Given the description of an element on the screen output the (x, y) to click on. 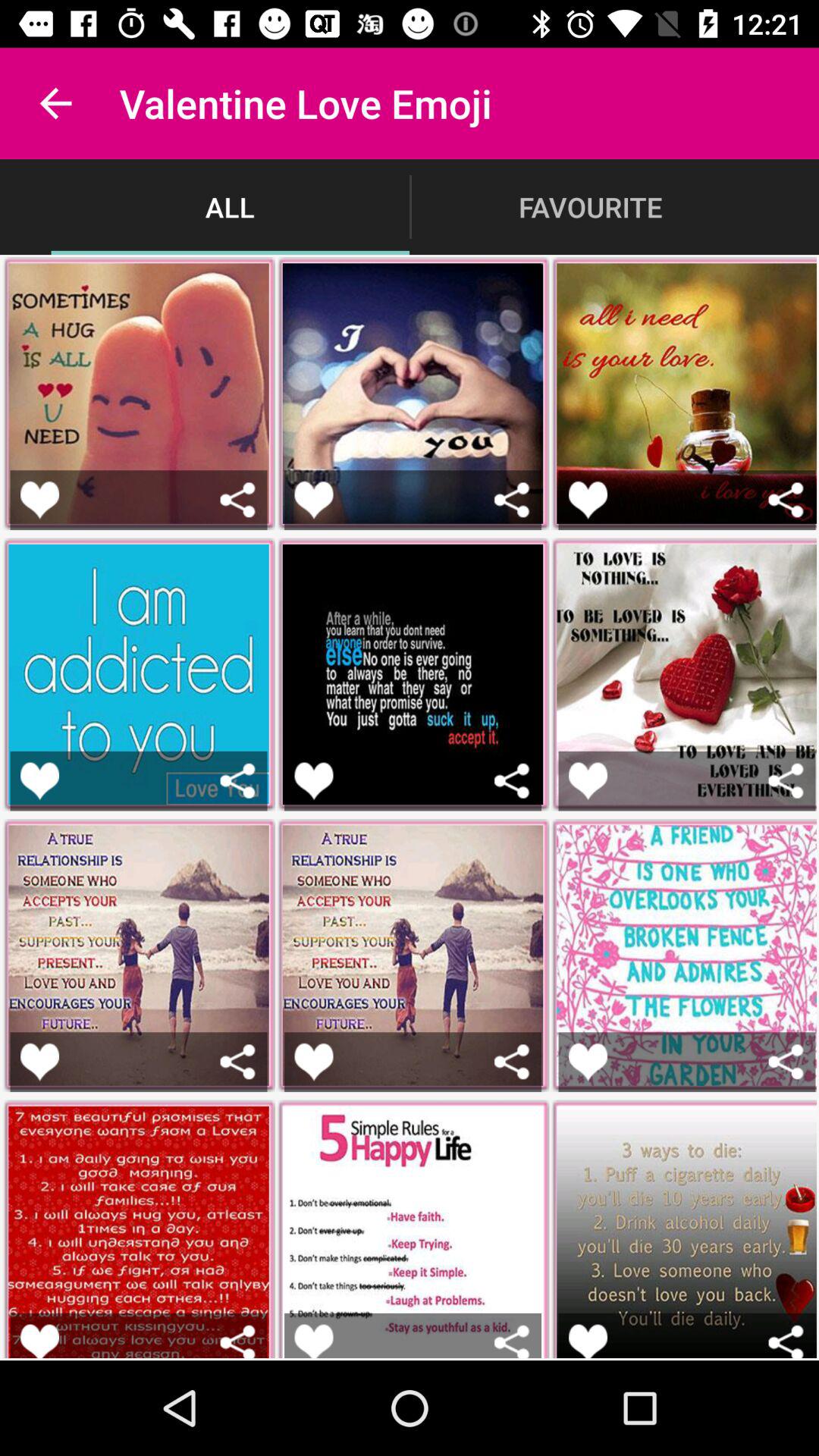
share this (237, 499)
